Given the description of an element on the screen output the (x, y) to click on. 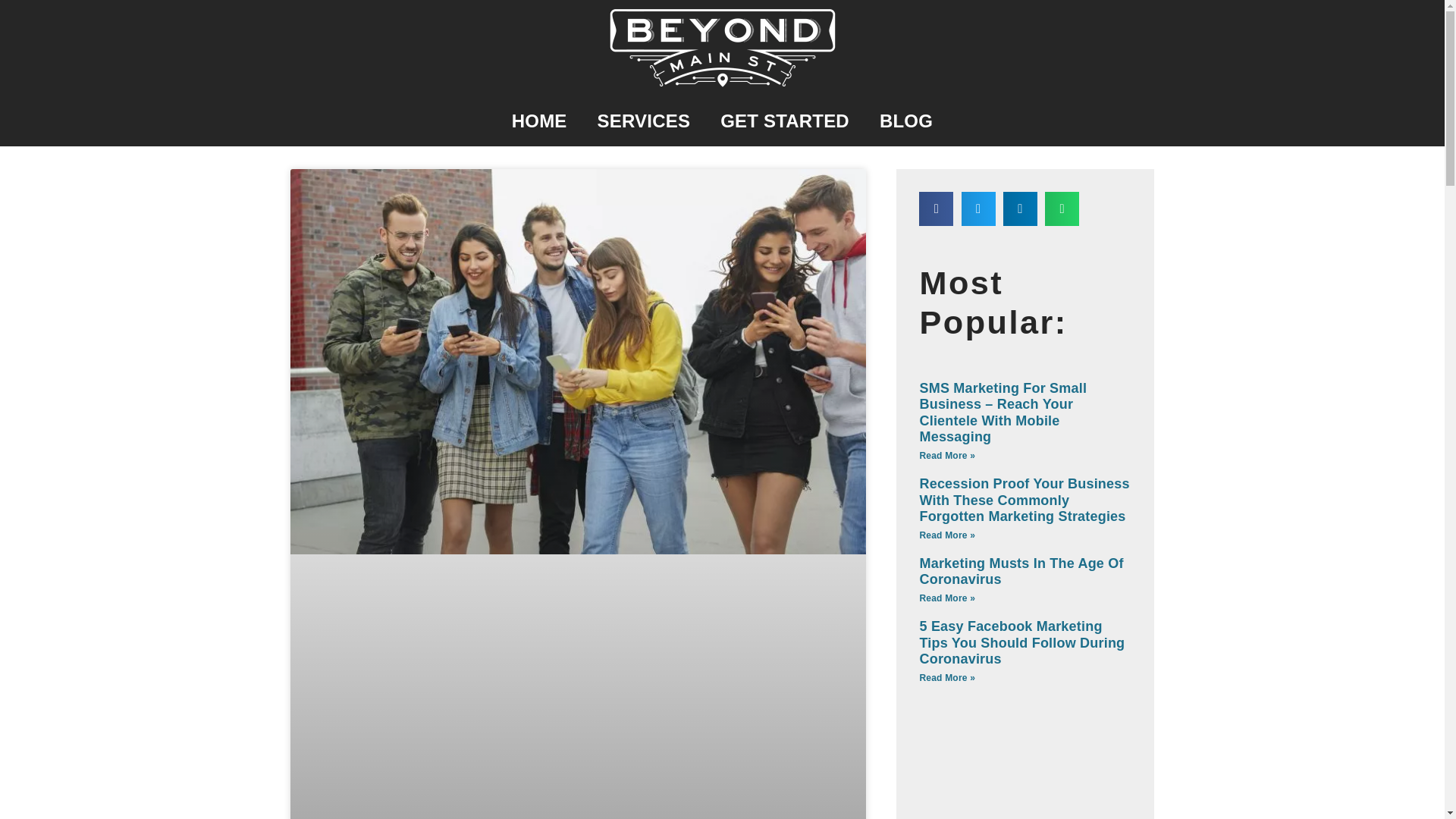
BLOG (905, 121)
HOME (539, 121)
Marketing Musts In The Age Of Coronavirus (1020, 572)
SERVICES (644, 121)
GET STARTED (784, 121)
